Given the description of an element on the screen output the (x, y) to click on. 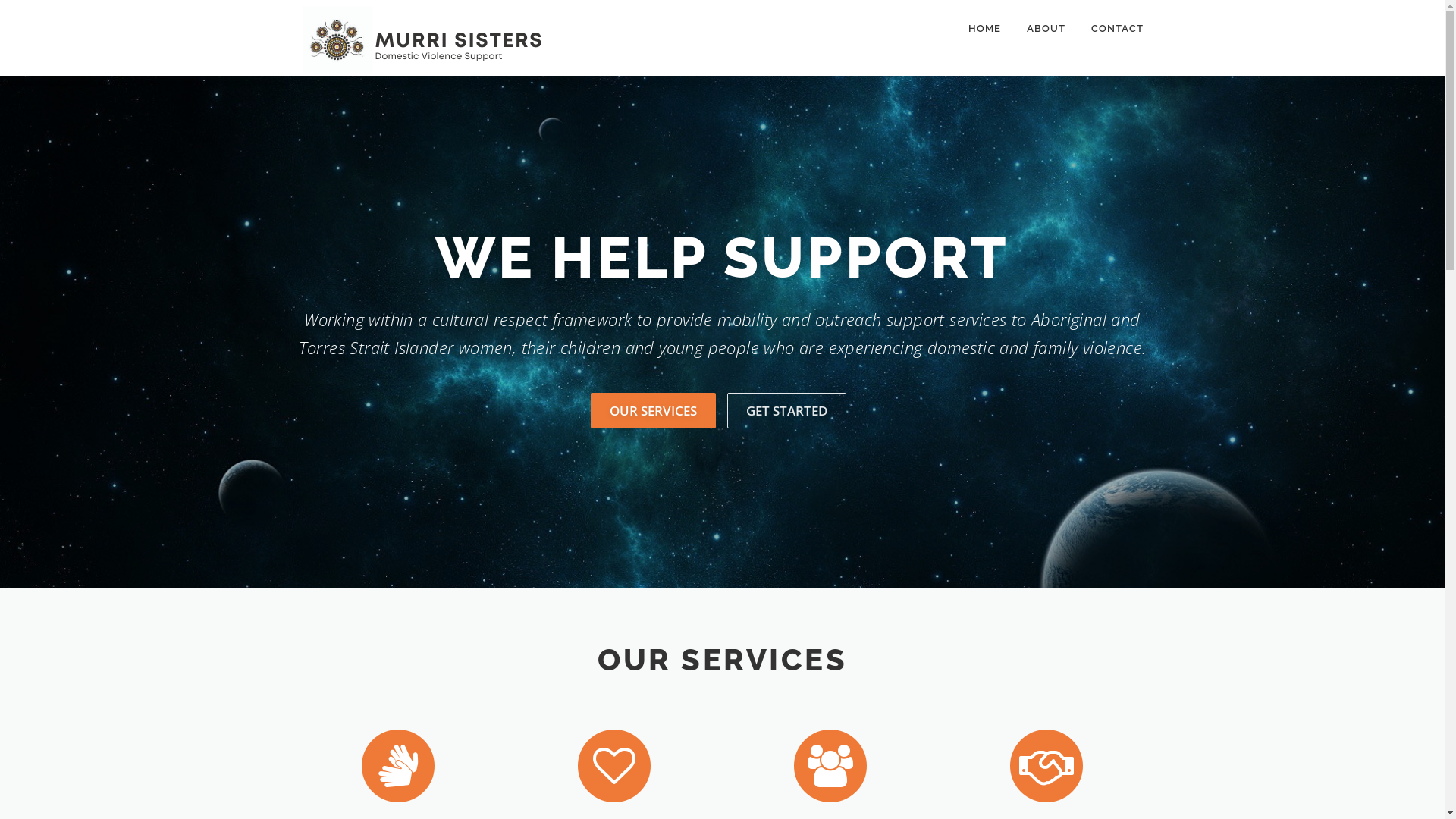
HOME Element type: text (984, 28)
CONTACT Element type: text (1110, 28)
ABOUT Element type: text (1045, 28)
GET STARTED Element type: text (786, 410)
OUR SERVICES Element type: text (652, 410)
